Given the description of an element on the screen output the (x, y) to click on. 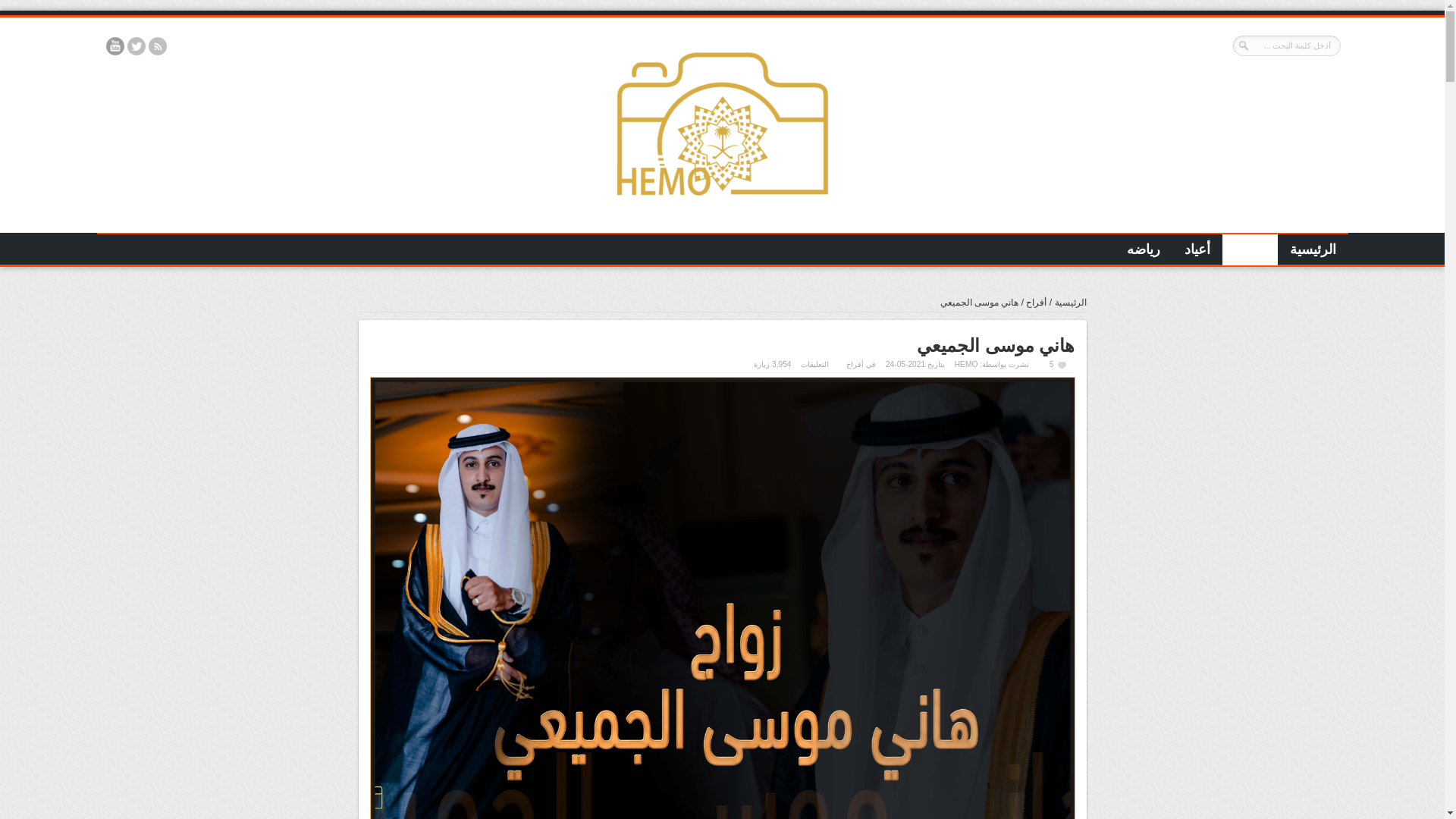
5 (1058, 364)
HEMO (721, 212)
HEMO (966, 364)
